Given the description of an element on the screen output the (x, y) to click on. 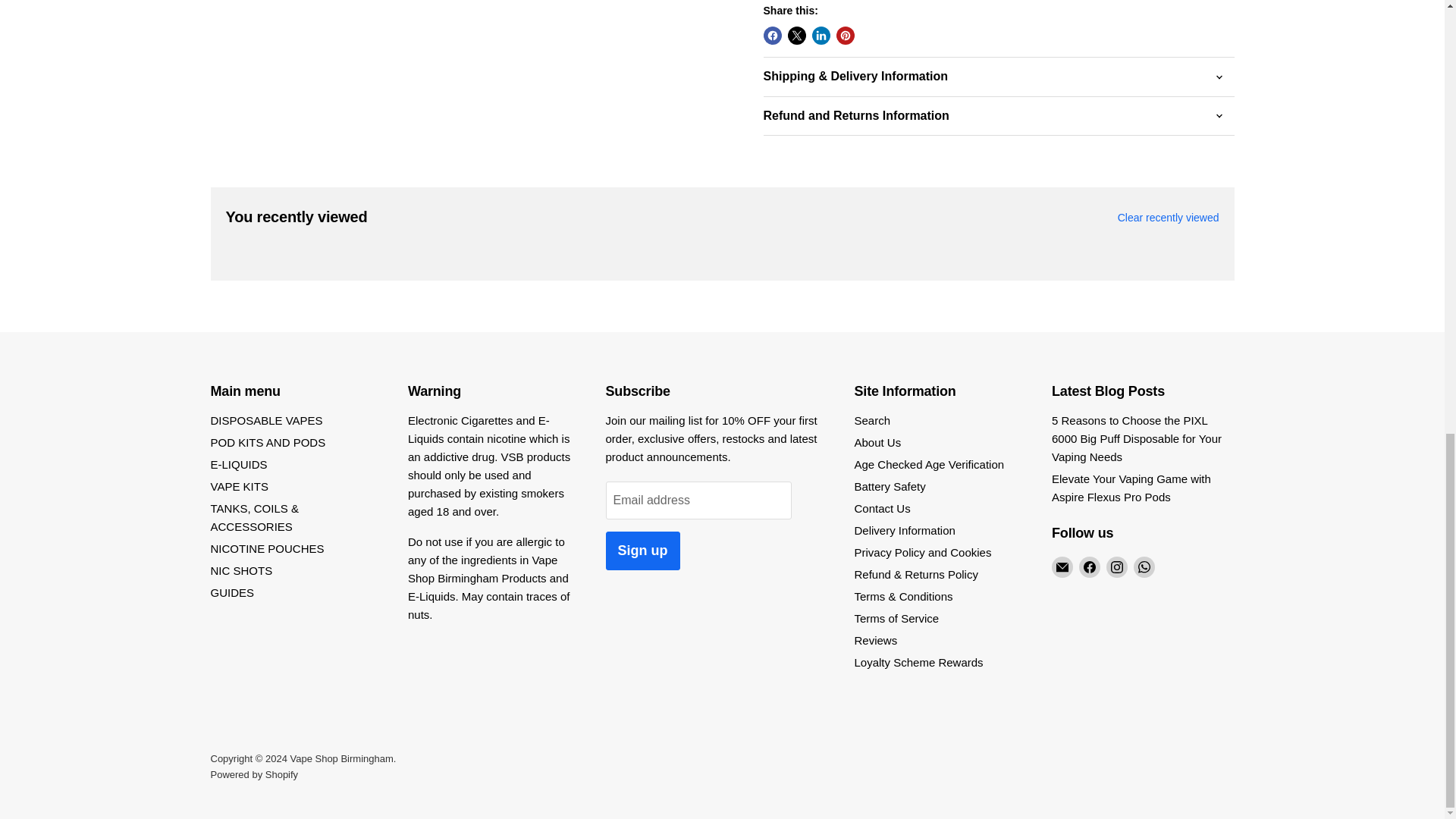
Email (1062, 567)
WhatsApp (1144, 567)
Facebook (1089, 567)
Instagram (1116, 567)
